Given the description of an element on the screen output the (x, y) to click on. 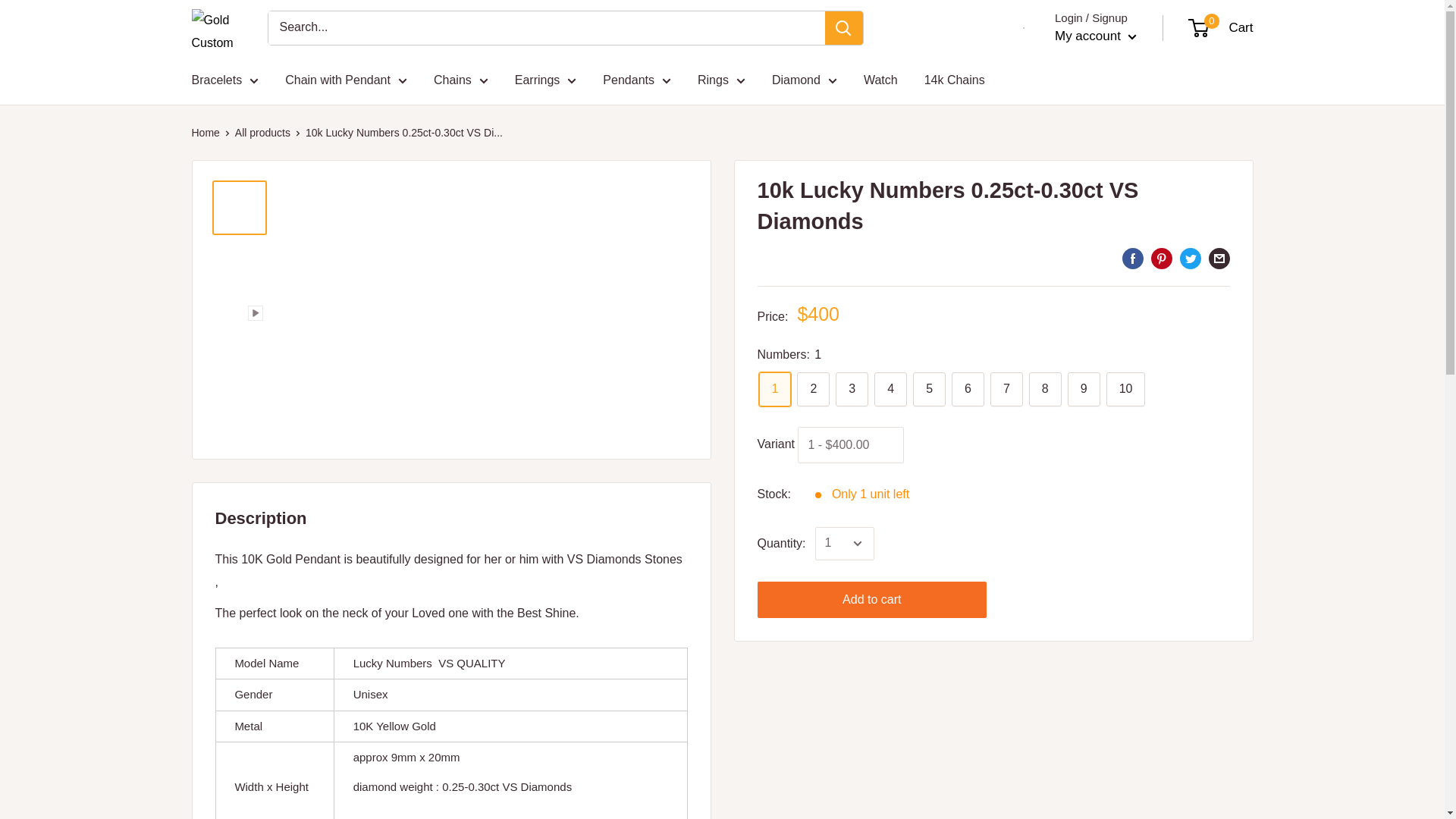
2 (812, 389)
3 (851, 389)
9 (1083, 389)
4 (891, 389)
1 (774, 389)
10 (1125, 389)
8 (1045, 389)
6 (968, 389)
5 (928, 389)
7 (1006, 389)
